Given the description of an element on the screen output the (x, y) to click on. 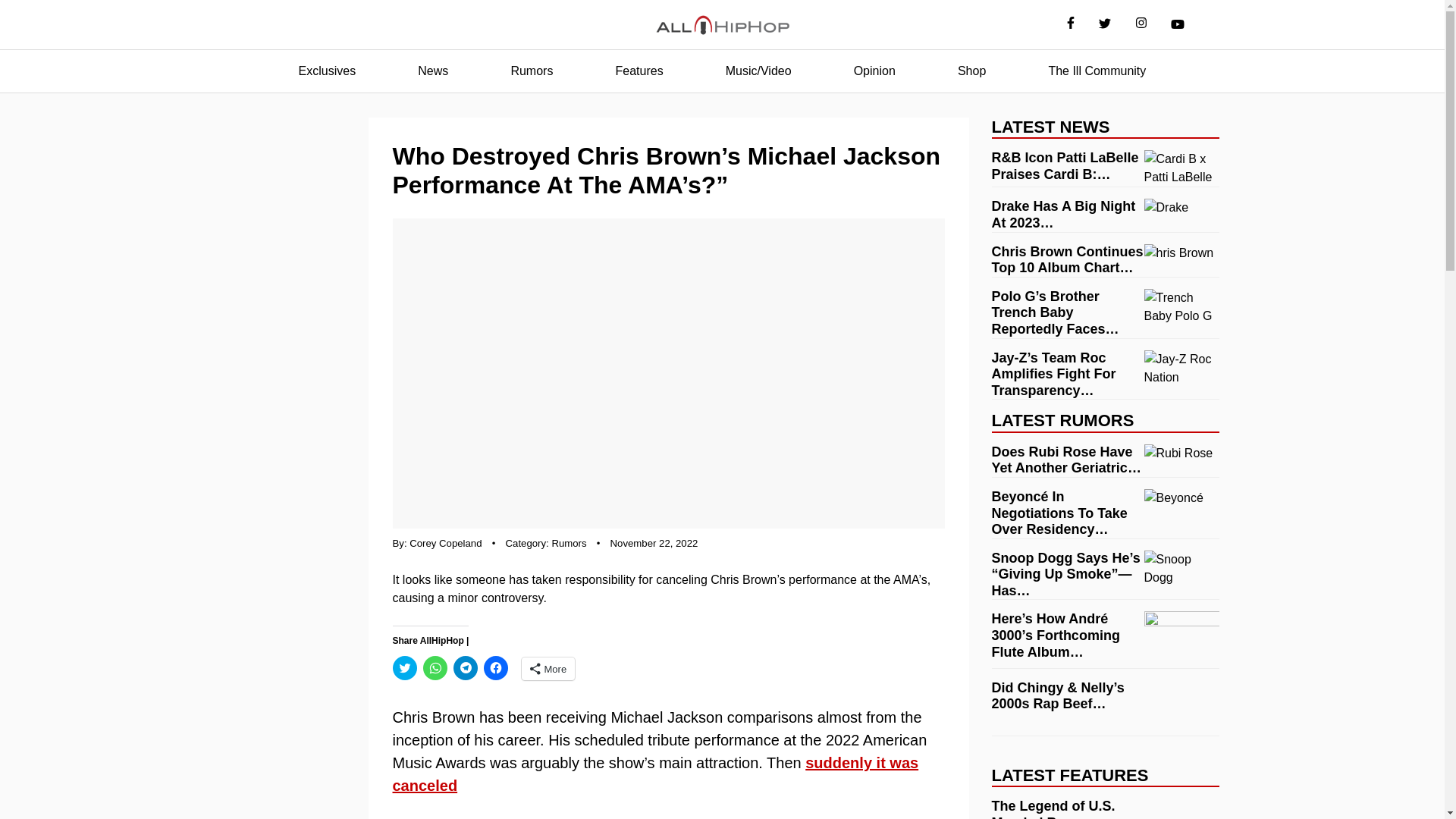
Opinion (874, 70)
Features (638, 70)
Shop (970, 70)
Click to share on Facebook (495, 668)
AllHipHop (722, 25)
Rumors (568, 542)
Rumors (530, 70)
Click to share on Twitter (404, 668)
Exclusives (327, 70)
The Ill Community (1096, 70)
Corey Copeland (445, 542)
Click to share on Telegram (464, 668)
November 22, 2022 (654, 542)
News (433, 70)
Click to share on WhatsApp (434, 668)
